Given the description of an element on the screen output the (x, y) to click on. 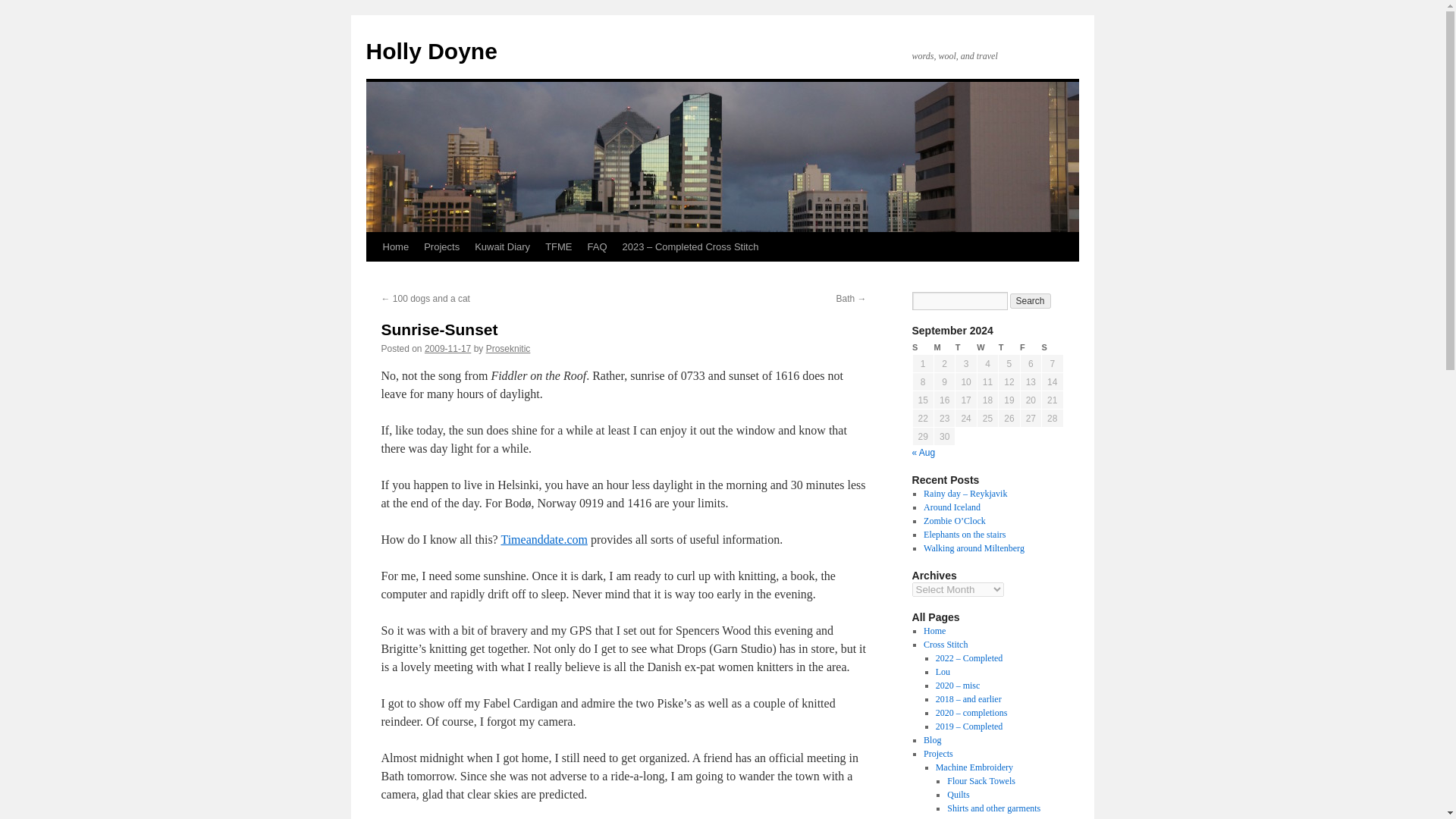
23:45 (447, 348)
FAQ (596, 246)
Holly Doyne (430, 50)
Elephants on the stairs (964, 534)
Home (395, 246)
Sunday (922, 347)
Wednesday (986, 347)
Walking around Miltenberg (974, 547)
View all posts by Proseknitic (508, 348)
Around Iceland (951, 507)
